Given the description of an element on the screen output the (x, y) to click on. 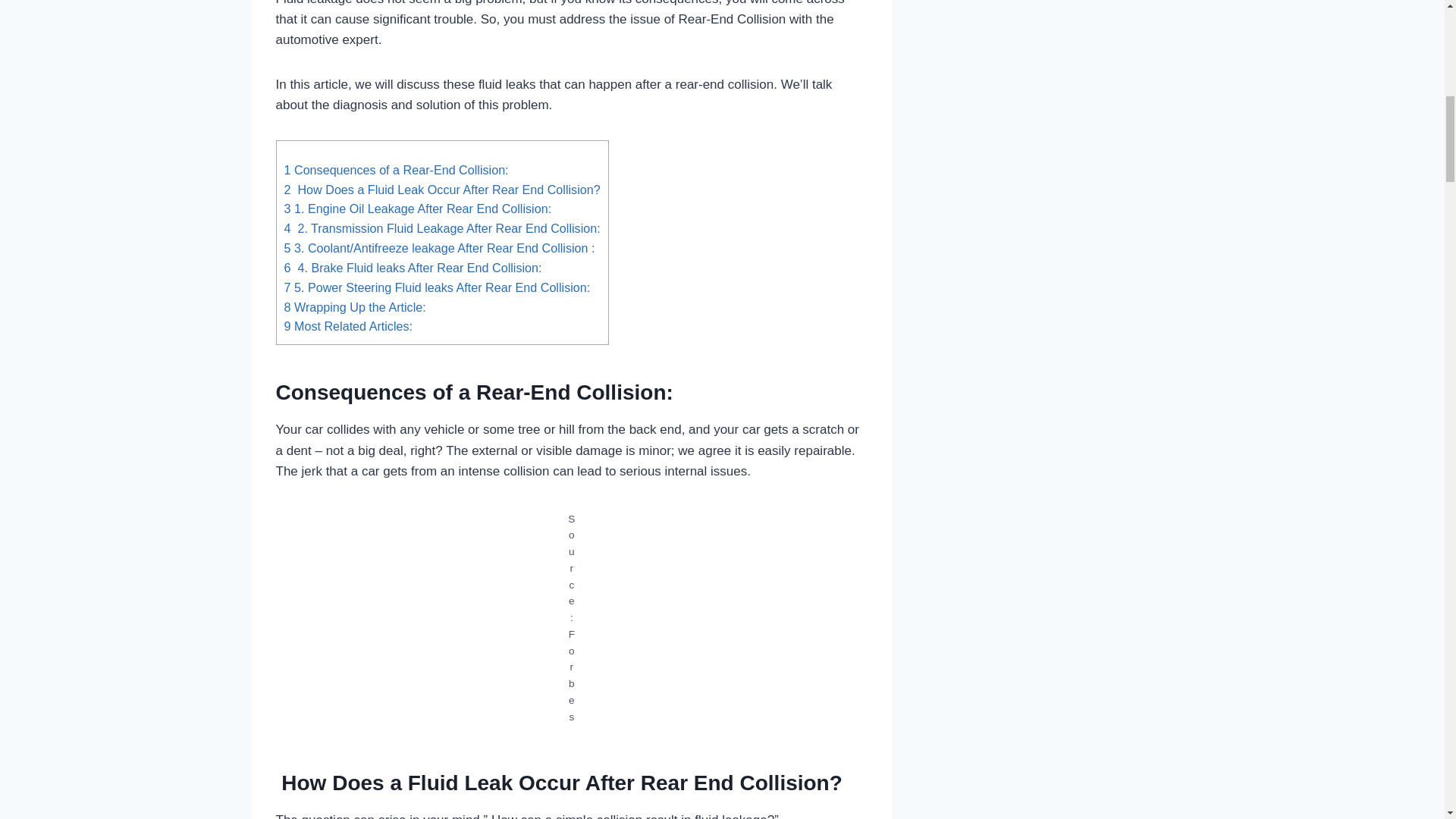
6  4. Brake Fluid leaks After Rear End Collision: (412, 267)
9 Most Related Articles: (347, 325)
2  How Does a Fluid Leak Occur After Rear End Collision? (441, 189)
7 5. Power Steering Fluid leaks After Rear End Collision: (436, 287)
4  2. Transmission Fluid Leakage After Rear End Collision: (441, 228)
3 1. Engine Oil Leakage After Rear End Collision: (417, 208)
1 Consequences of a Rear-End Collision: (395, 169)
8 Wrapping Up the Article: (354, 306)
